Given the description of an element on the screen output the (x, y) to click on. 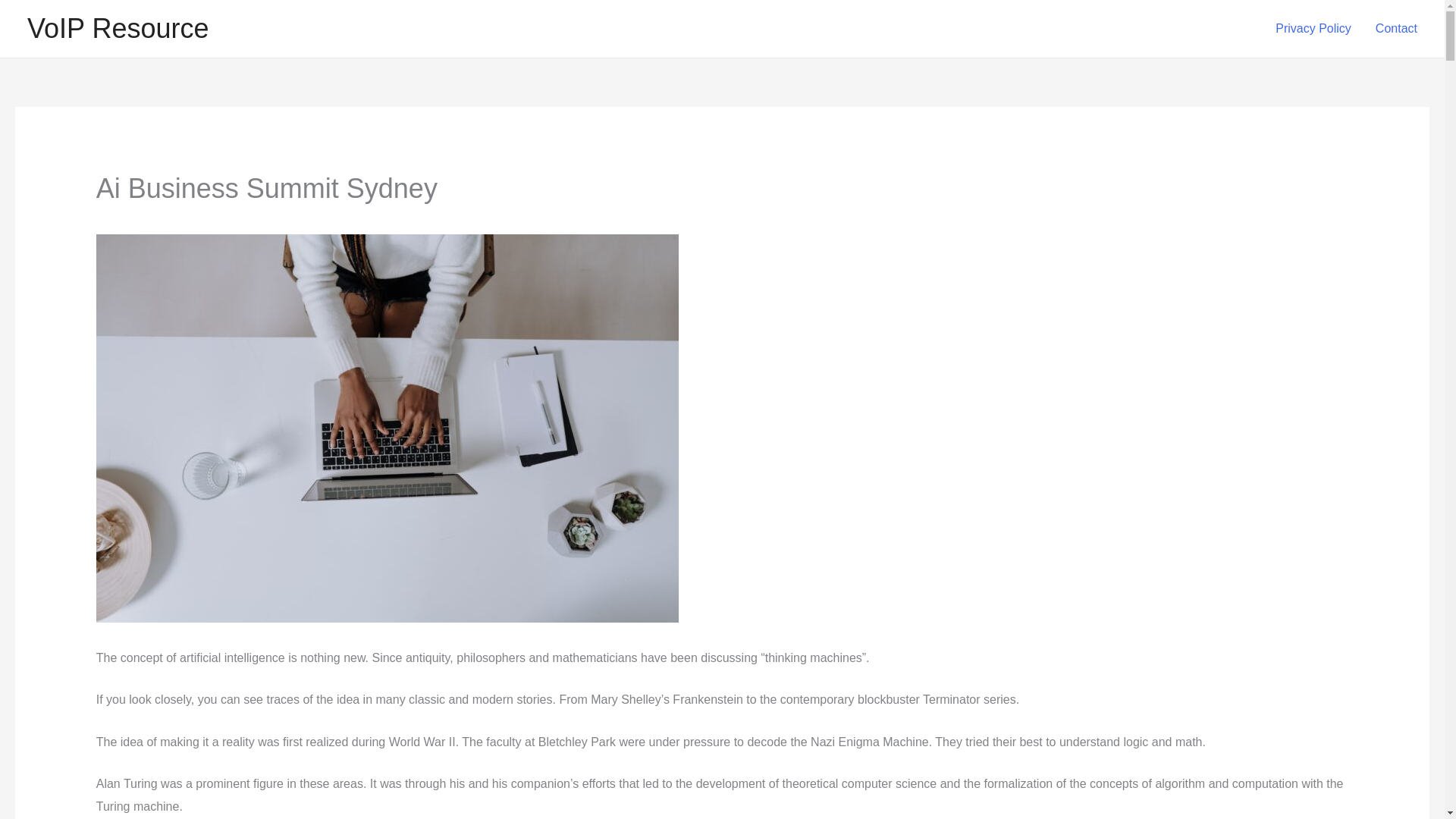
Privacy Policy (1312, 28)
Contact (1395, 28)
VoIP Resource (117, 28)
